Given the description of an element on the screen output the (x, y) to click on. 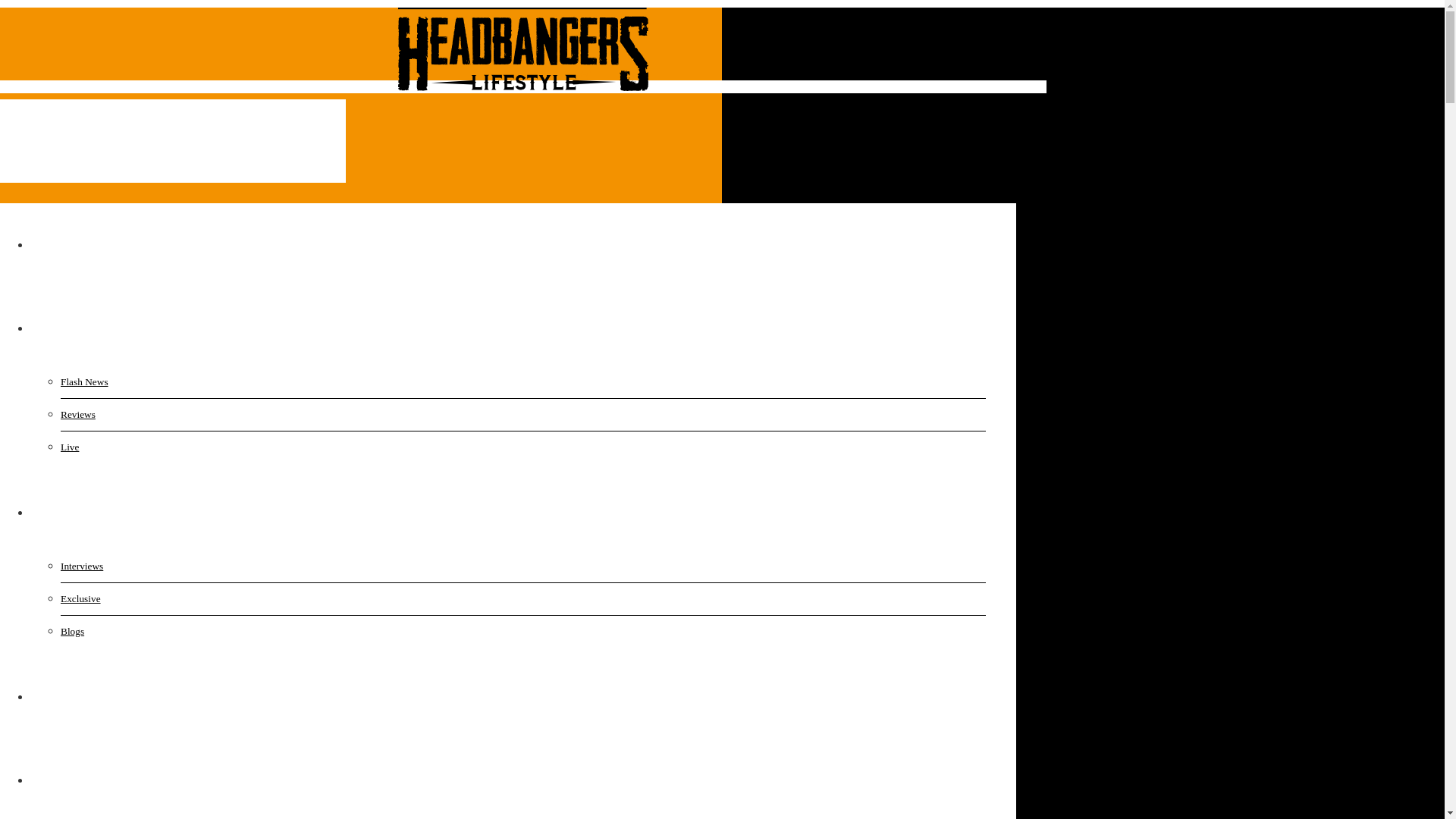
Live (136, 447)
MUSIC (76, 327)
HBLS TV (76, 696)
FEATURES (89, 512)
LIFESTYLE (92, 779)
Blogs (136, 631)
HOME (66, 244)
Reviews (136, 414)
Interviews (136, 566)
Exclusive (136, 599)
Flash News (136, 382)
